Given the description of an element on the screen output the (x, y) to click on. 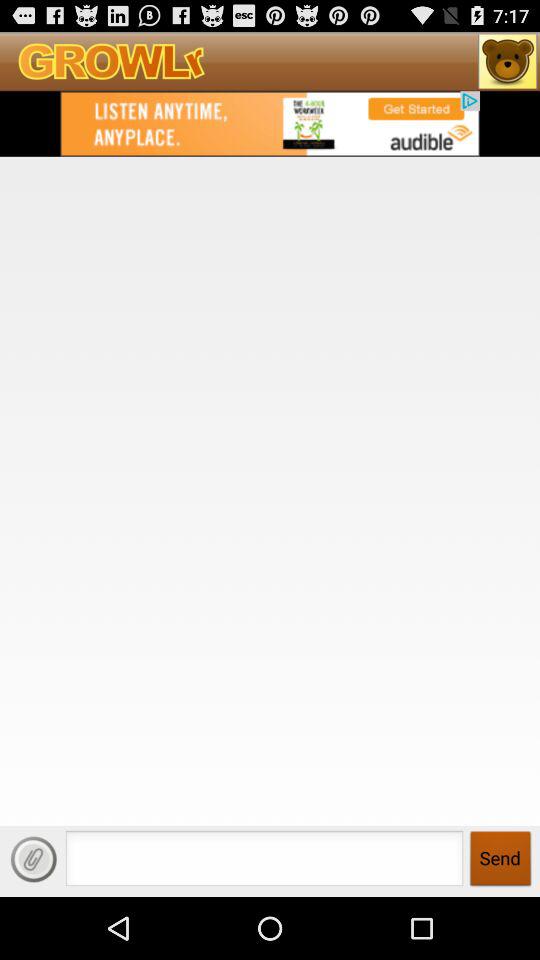
attach item (33, 859)
